Given the description of an element on the screen output the (x, y) to click on. 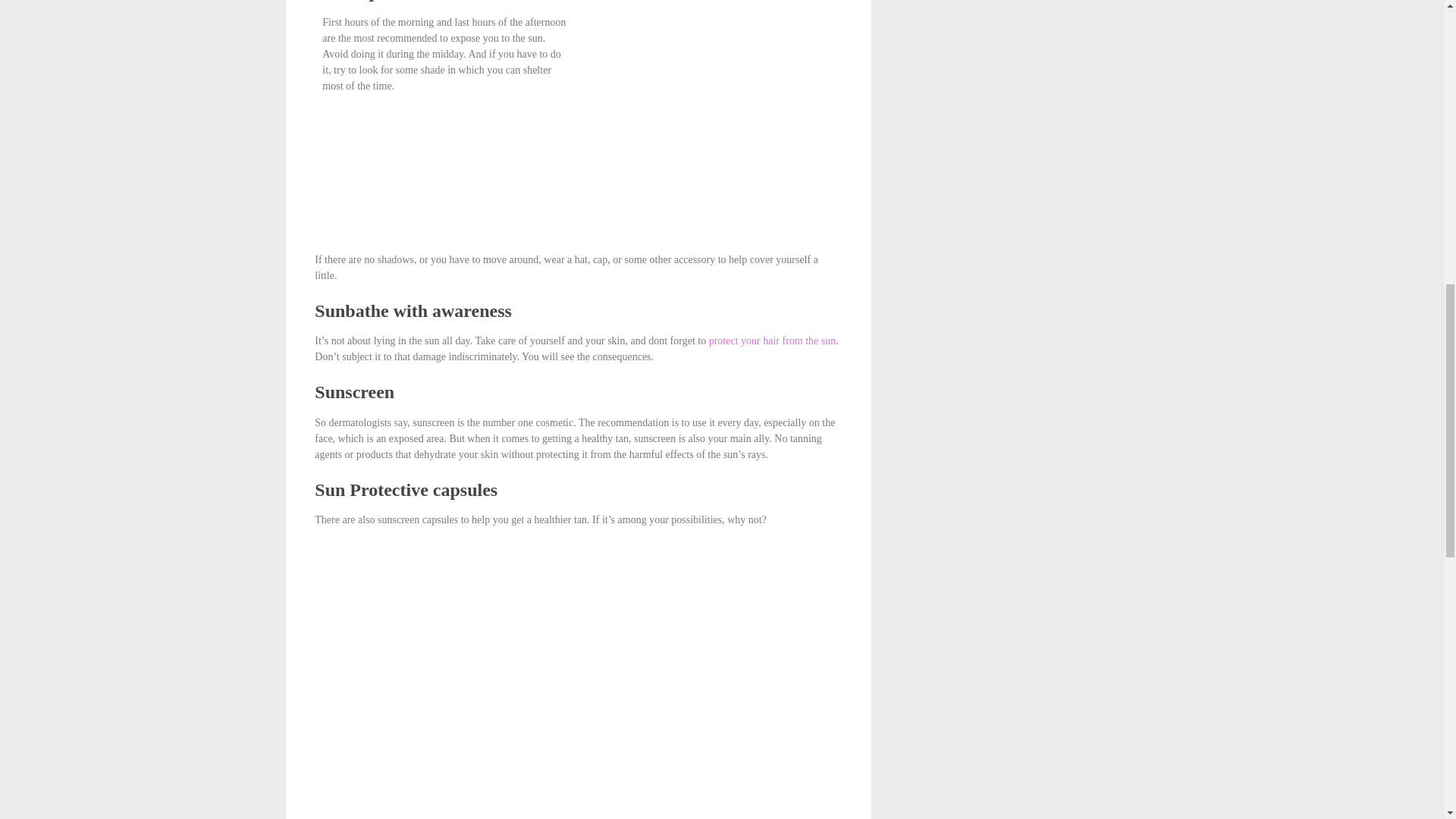
protect your hair from the sun (772, 340)
